Given the description of an element on the screen output the (x, y) to click on. 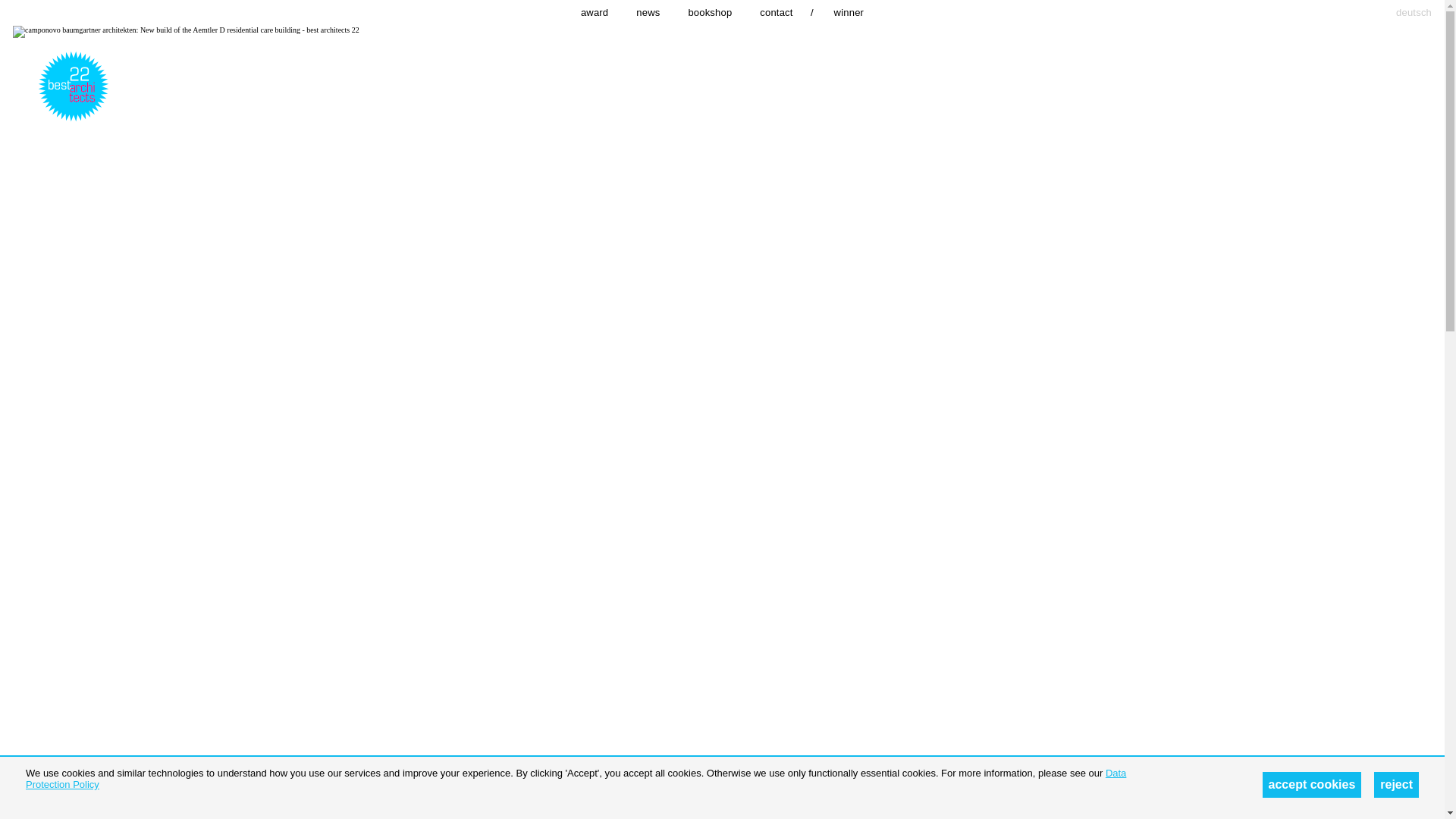
award (594, 12)
news (647, 12)
bookshop (709, 12)
